Given the description of an element on the screen output the (x, y) to click on. 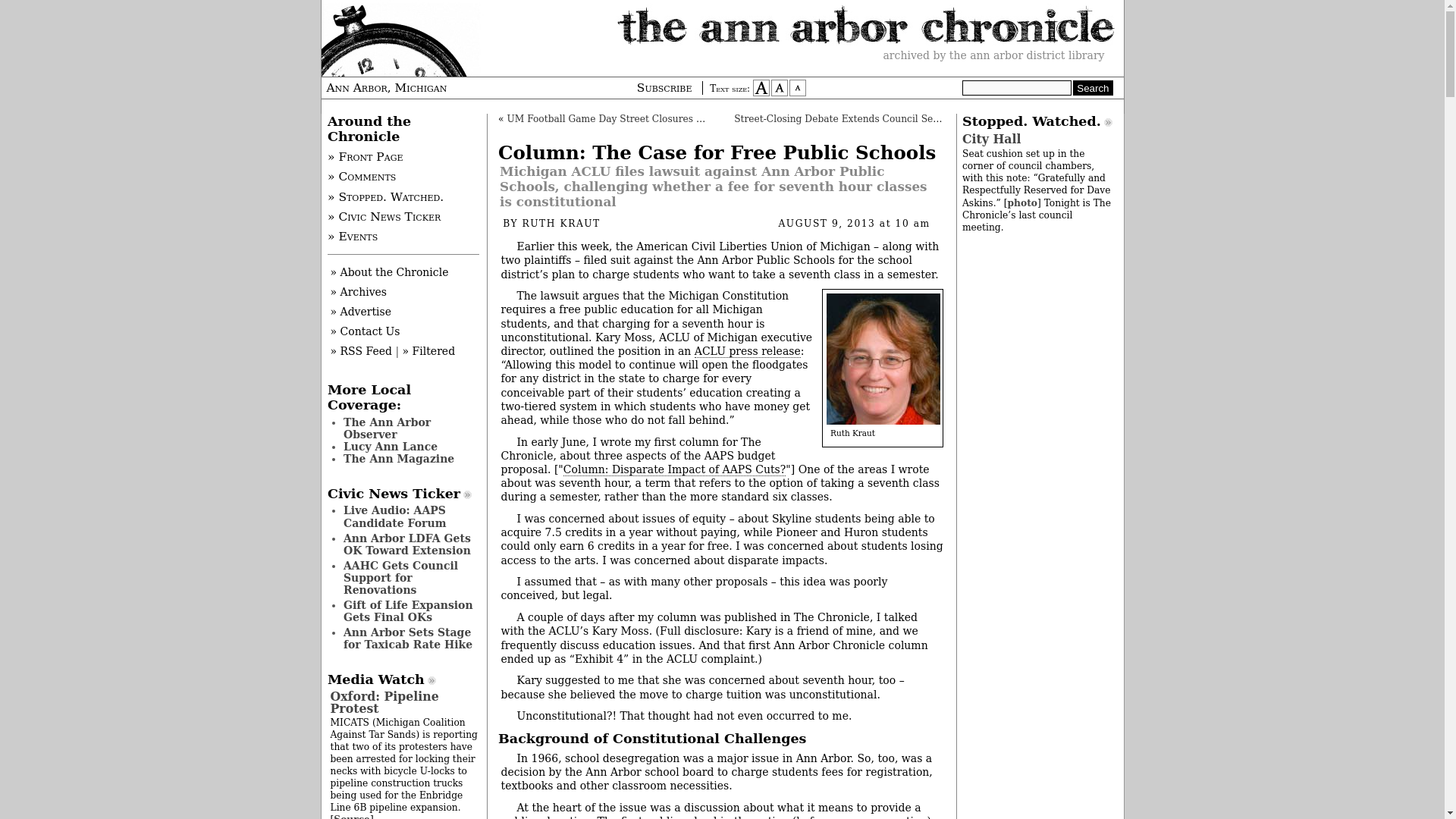
View post AAHC Gets Council Support for Renovations (400, 577)
Subscribe (667, 88)
View post Gift of Life Expansion Gets Final OKs (408, 610)
RUTH KRAUT (560, 223)
ACLU press release (747, 350)
View post Live Audio: AAPS Candidate Forum (394, 516)
Column: Disparate Impact of AAPS Cuts? (674, 469)
Posts by Ruth Kraut (560, 223)
View post Ann Arbor Sets Stage for Taxicab Rate Hike (407, 638)
View post Ann Arbor LDFA Gets OK Toward Extension (406, 544)
